Given the description of an element on the screen output the (x, y) to click on. 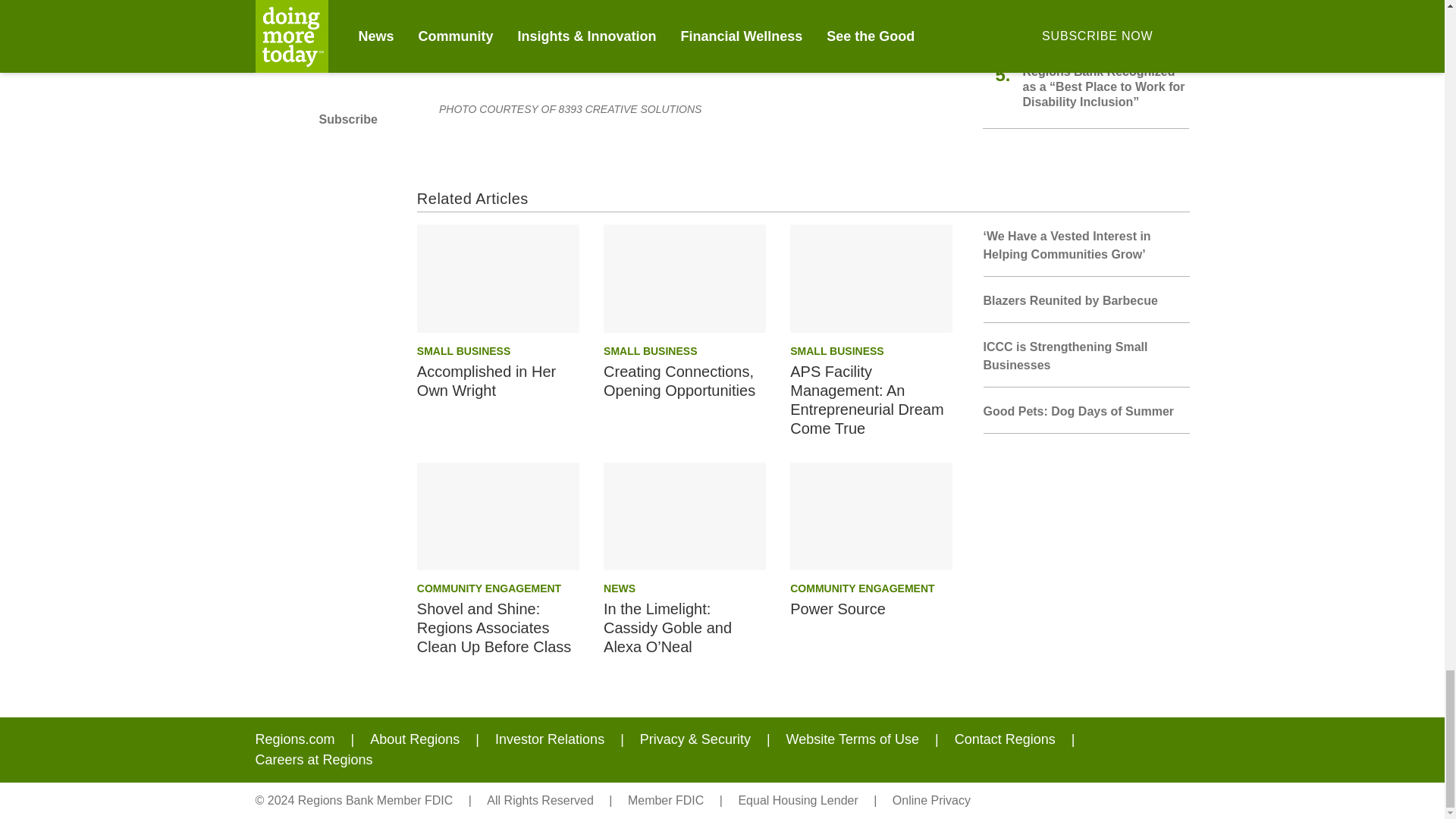
Accomplished in Her Own Wright (497, 278)
Power Source (871, 516)
Creating Connections, Opening Opportunities (684, 278)
Shovel and Shine: Regions Associates Clean Up Before Class (497, 516)
APS Facility Management: An Entrepreneurial Dream Come True (871, 278)
